Given the description of an element on the screen output the (x, y) to click on. 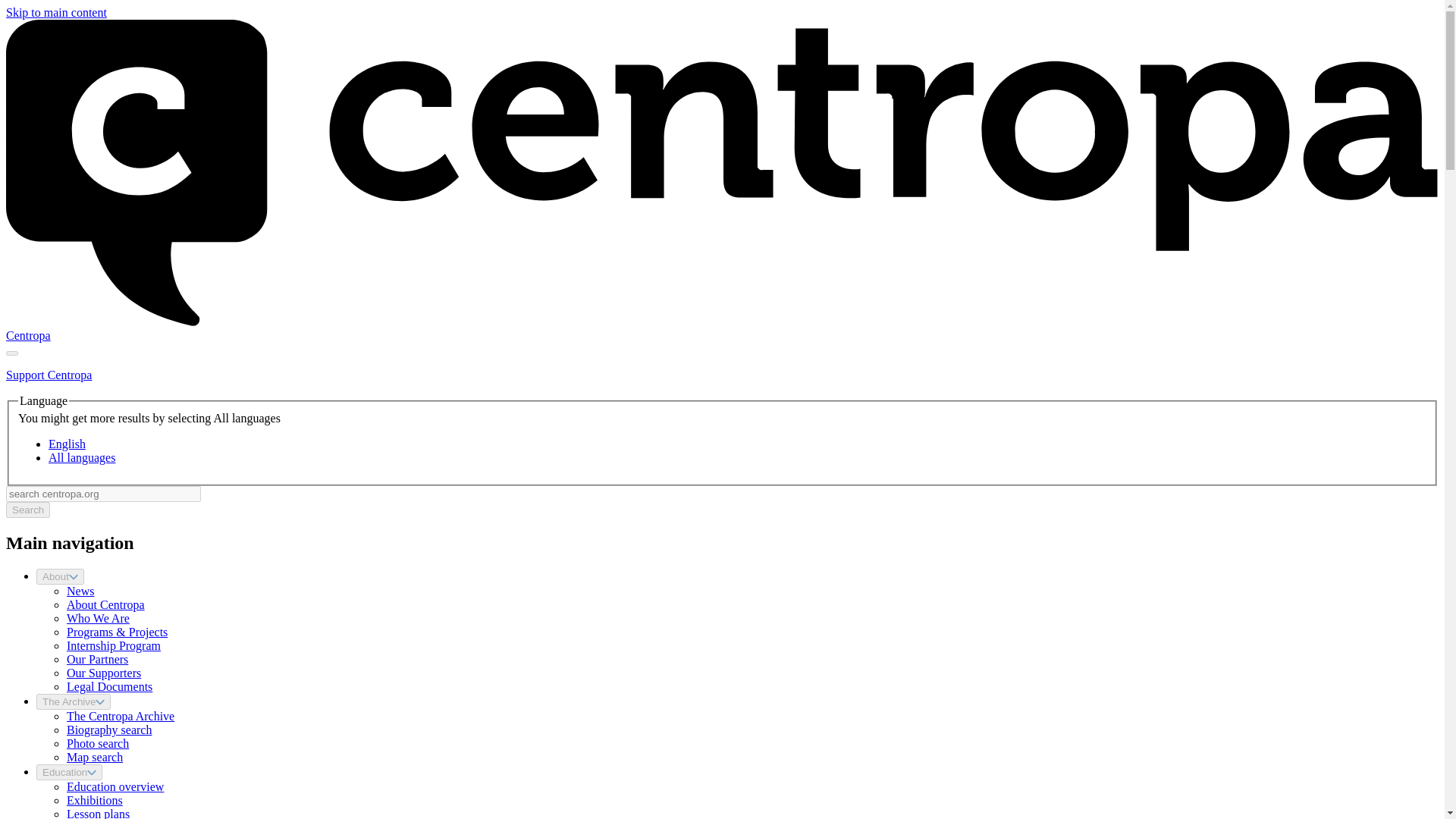
Photo search (97, 743)
English (66, 443)
Our Partners (97, 658)
About Centropa (105, 604)
Skip to main content (55, 11)
Legal Documents (109, 686)
Centropa (27, 335)
All languages (81, 457)
Lesson plans (97, 813)
About (60, 576)
Education overview (114, 786)
The Centropa Archive (120, 716)
Education (68, 772)
Who We Are (97, 617)
Support Centropa (48, 374)
